Given the description of an element on the screen output the (x, y) to click on. 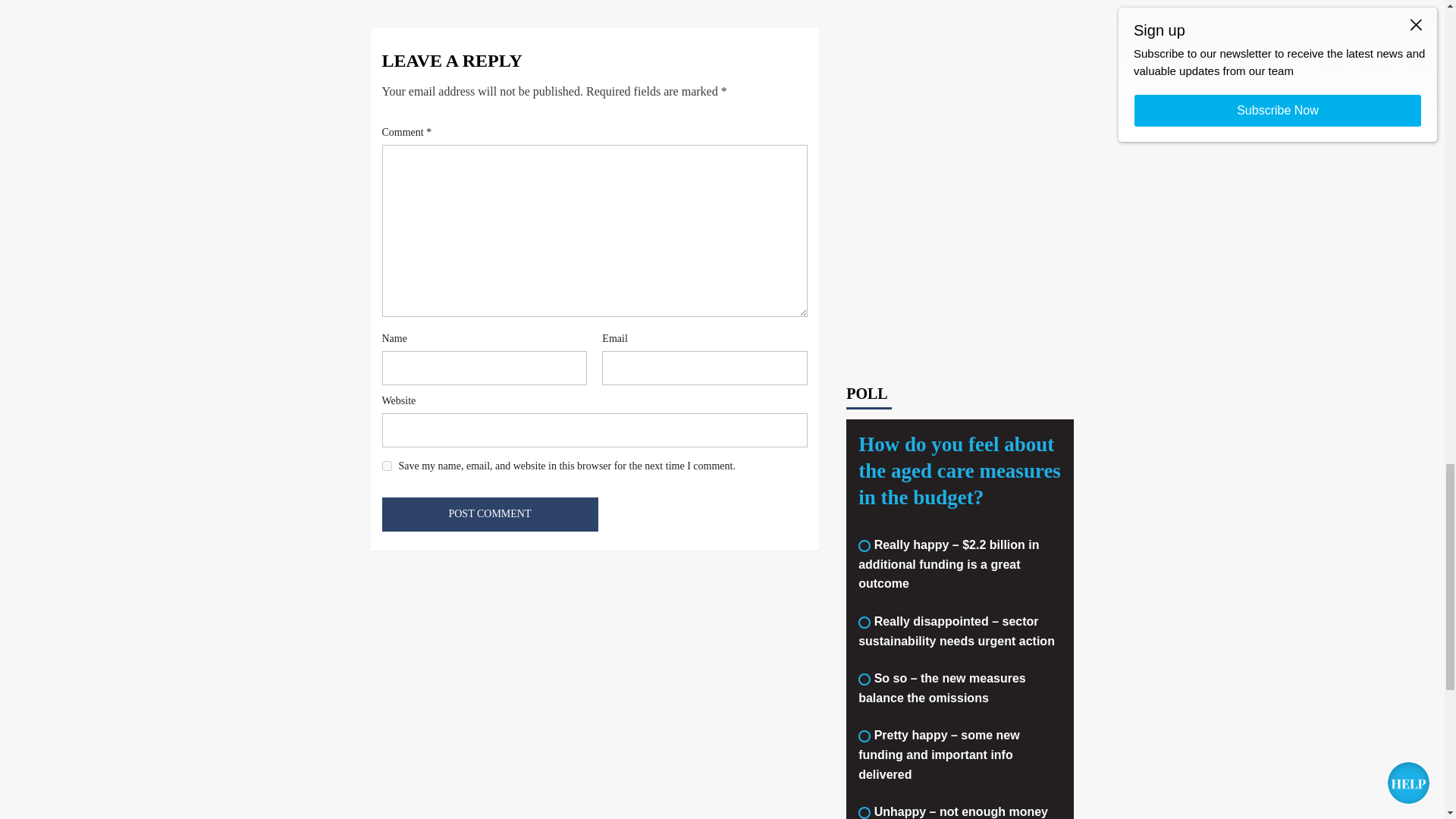
3rd party ad content (959, 57)
315 (864, 812)
3rd party ad content (959, 246)
yes (386, 465)
314 (864, 736)
Post Comment (489, 514)
312 (864, 622)
313 (864, 679)
311 (864, 545)
